Given the description of an element on the screen output the (x, y) to click on. 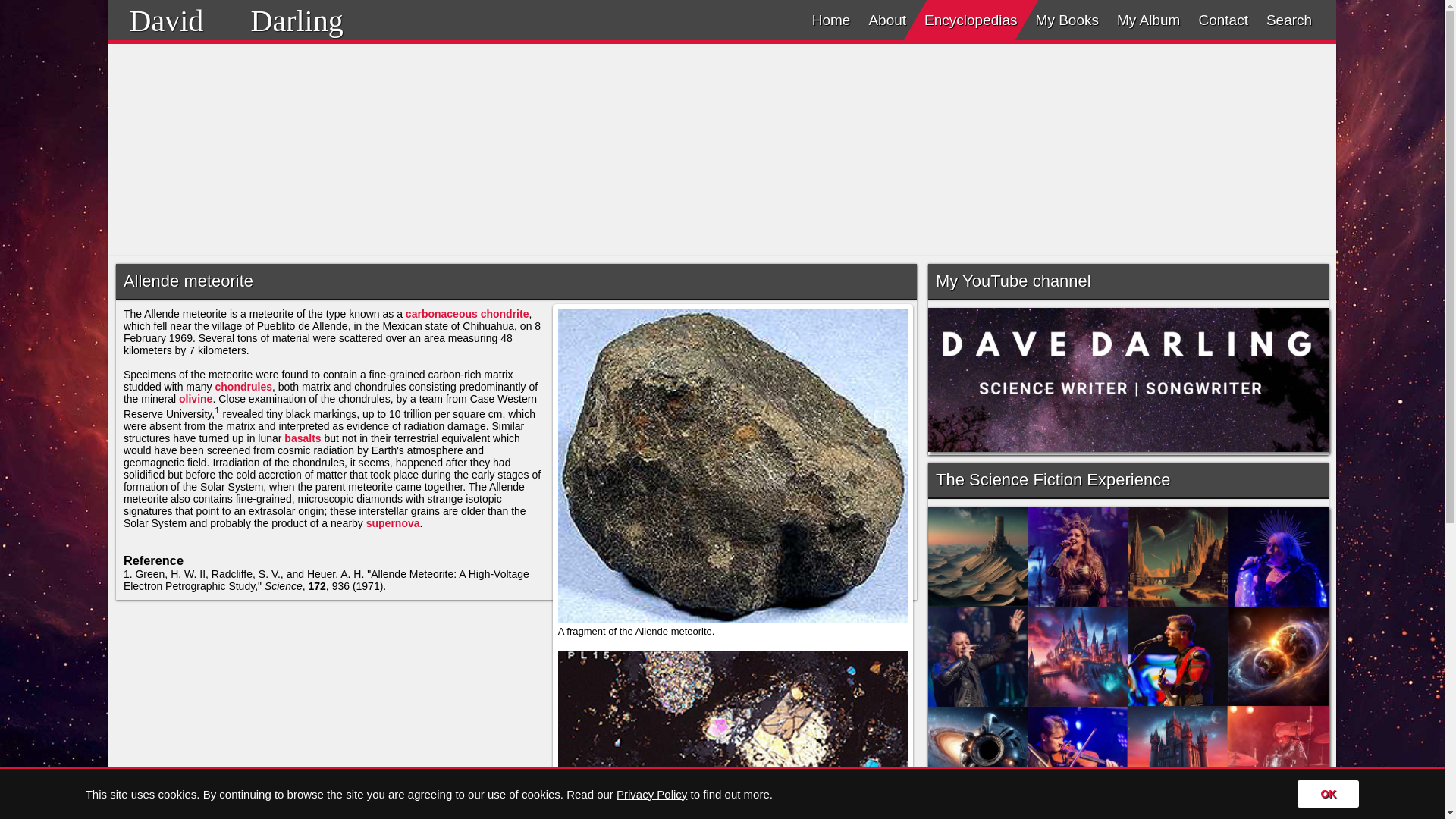
Search (1288, 20)
olivine (195, 398)
My Books (1067, 20)
Contact (1222, 20)
About (887, 20)
carbonaceous chondrite (467, 313)
Darling (296, 20)
chondrules (243, 386)
David (166, 20)
My Album (1148, 20)
basalts (301, 438)
supernova (393, 522)
Encyclopedias (970, 20)
Home (831, 20)
